Given the description of an element on the screen output the (x, y) to click on. 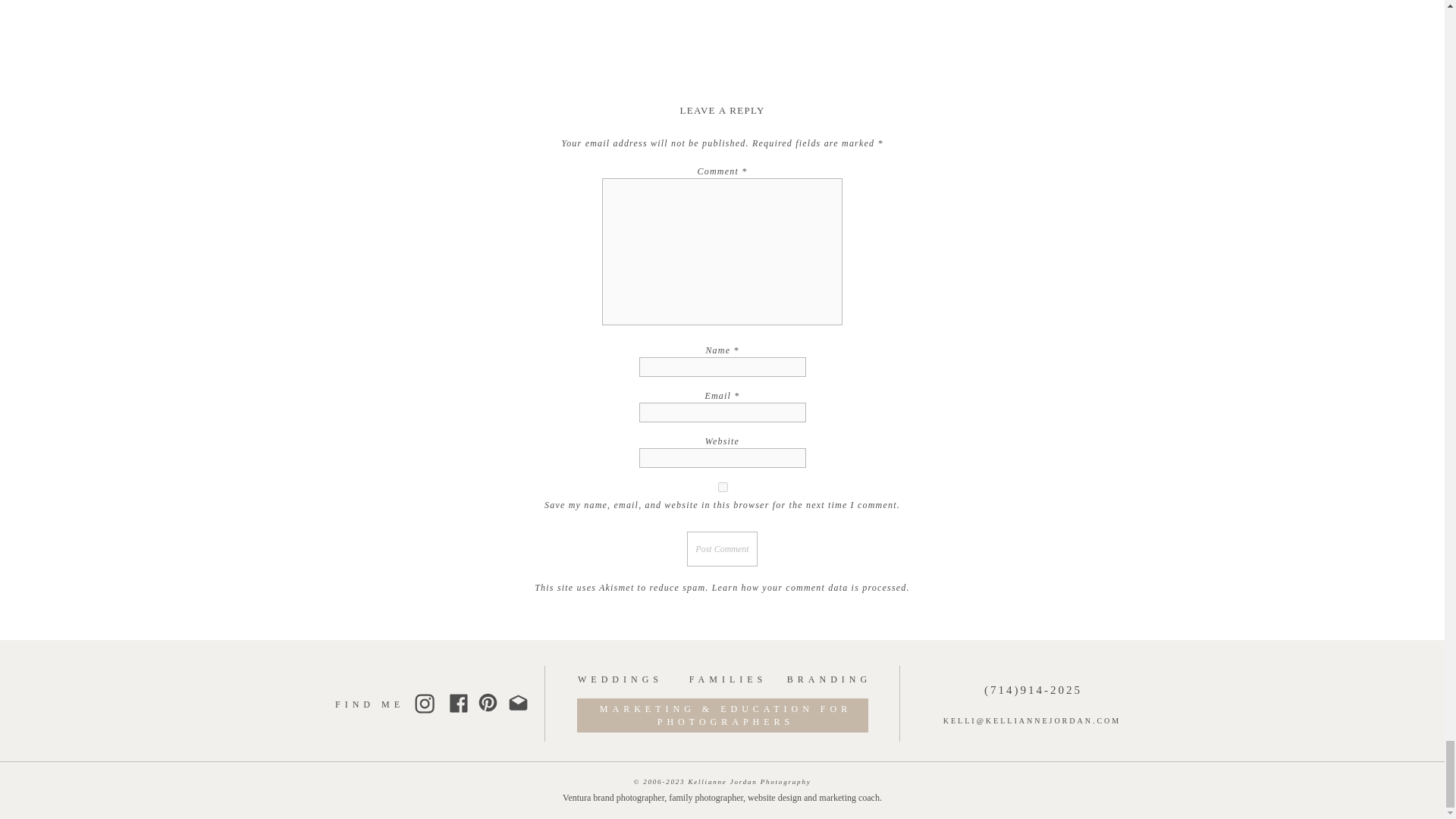
Facebook Copy-color Created with Sketch. (458, 702)
Instagram-color Created with Sketch. (423, 703)
Post Comment (722, 548)
yes (721, 487)
